Given the description of an element on the screen output the (x, y) to click on. 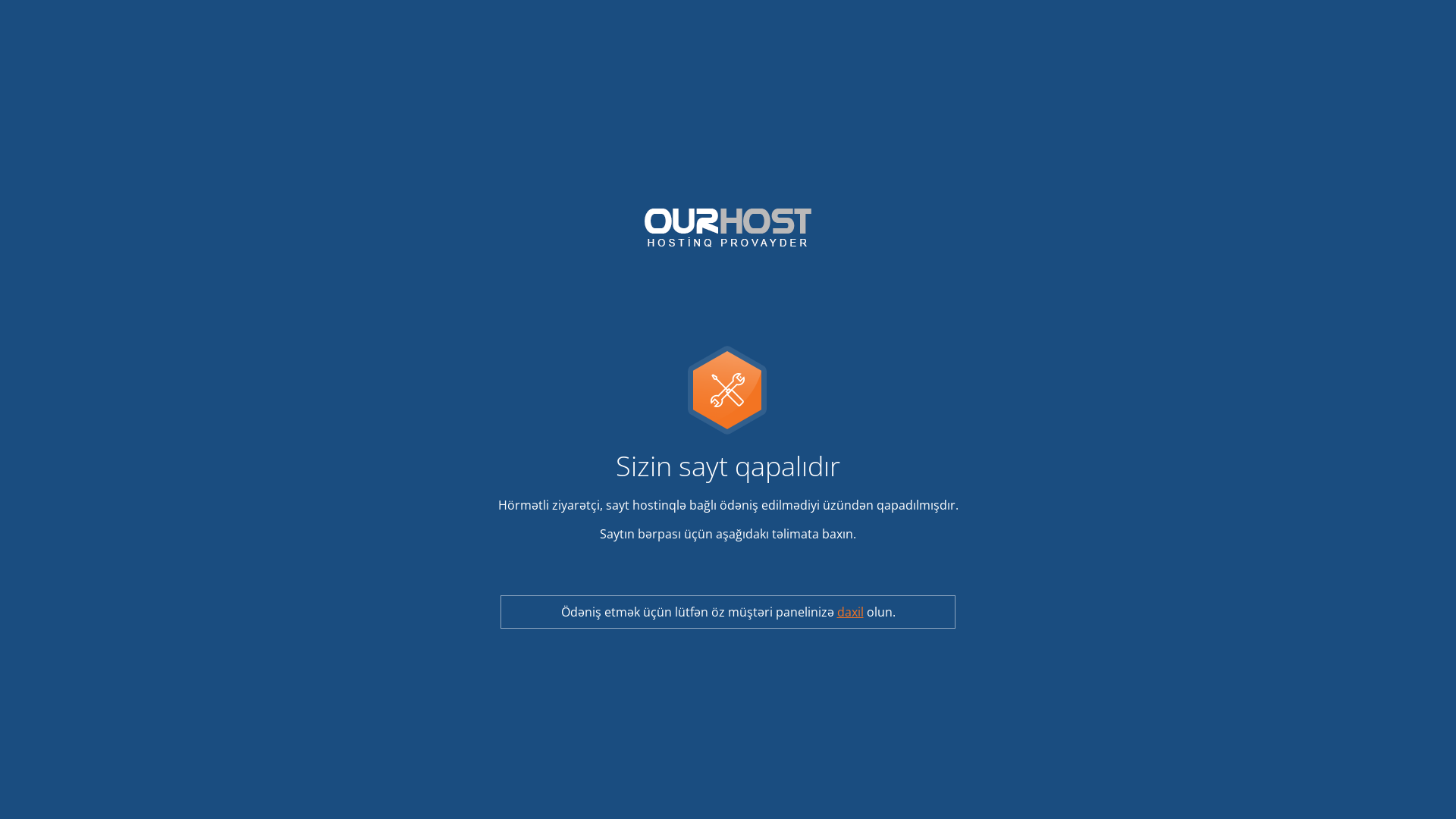
daxil Element type: text (850, 611)
